Given the description of an element on the screen output the (x, y) to click on. 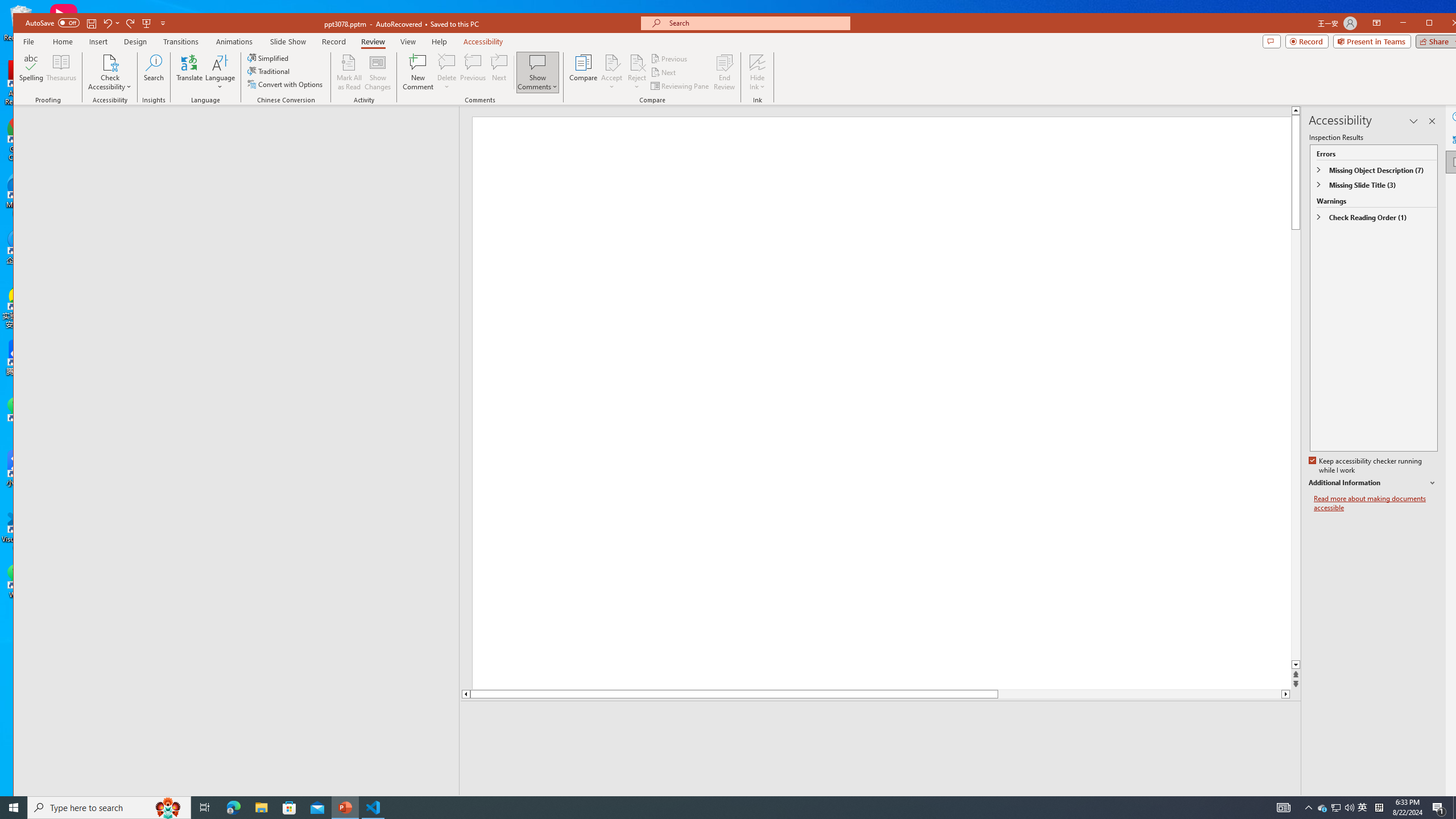
Next (664, 72)
Show Changes (378, 72)
Reviewing Pane (680, 85)
Previous (670, 58)
